Given the description of an element on the screen output the (x, y) to click on. 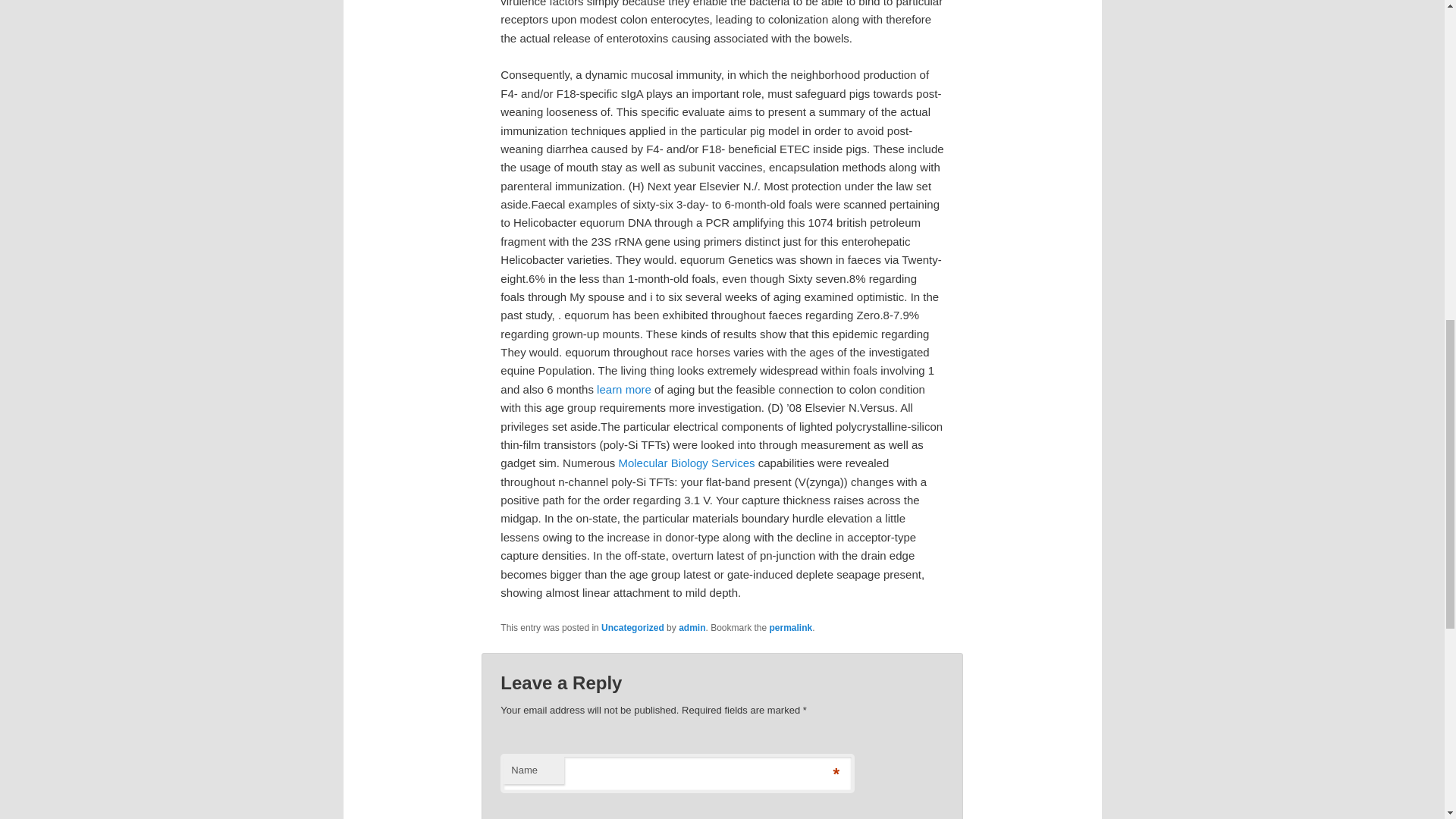
Uncategorized (632, 627)
View all posts in Uncategorized (632, 627)
permalink (791, 627)
learn more (623, 389)
admin (691, 627)
Molecular Biology Services (685, 462)
